Given the description of an element on the screen output the (x, y) to click on. 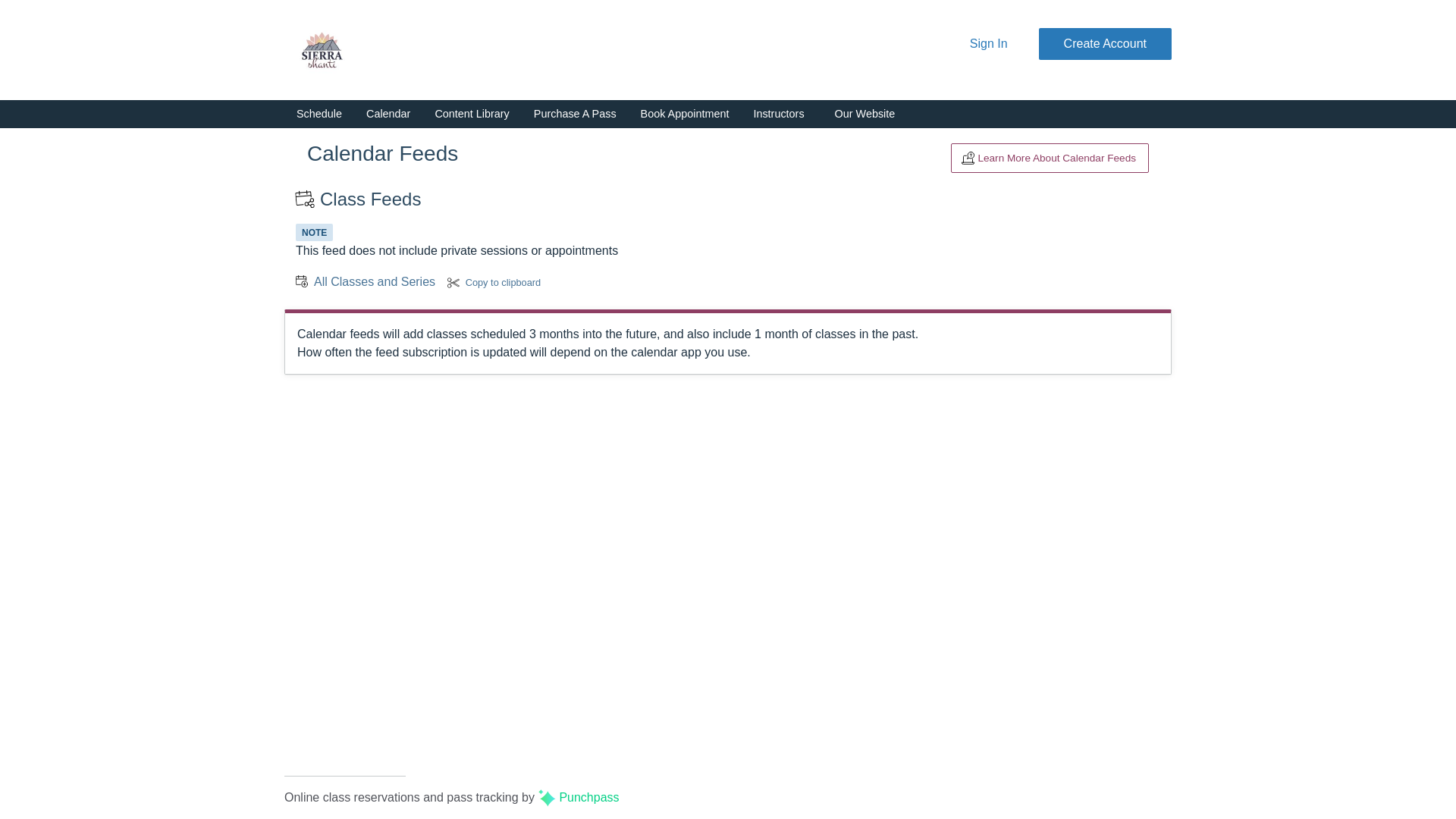
Learn More About Calendar Feeds (1049, 158)
Our Website (864, 114)
Book Appointment (684, 113)
Schedule (318, 113)
Sign In (988, 43)
Instructors (778, 113)
Calendar (387, 113)
Content Library (471, 113)
Punchpass (577, 797)
Create Account (1105, 43)
